Given the description of an element on the screen output the (x, y) to click on. 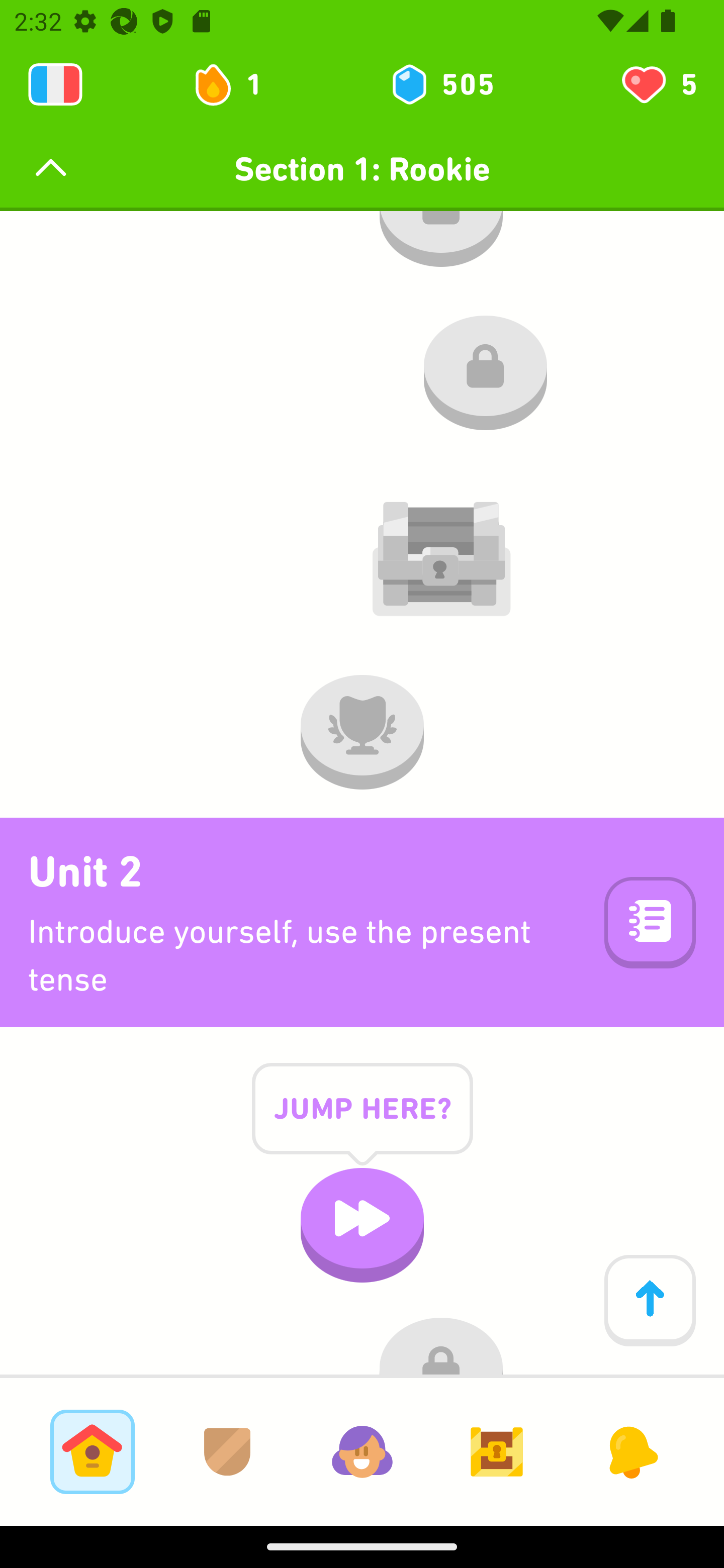
Learning 2131888976 (55, 84)
1 day streak 1 (236, 84)
505 (441, 84)
You have 5 hearts left 5 (657, 84)
Section 1: Rookie (362, 169)
JUMP HERE? (361, 1124)
Learn Tab (91, 1451)
Leagues Tab (227, 1451)
Profile Tab (361, 1451)
Goals Tab (496, 1451)
News Tab (631, 1451)
